Given the description of an element on the screen output the (x, y) to click on. 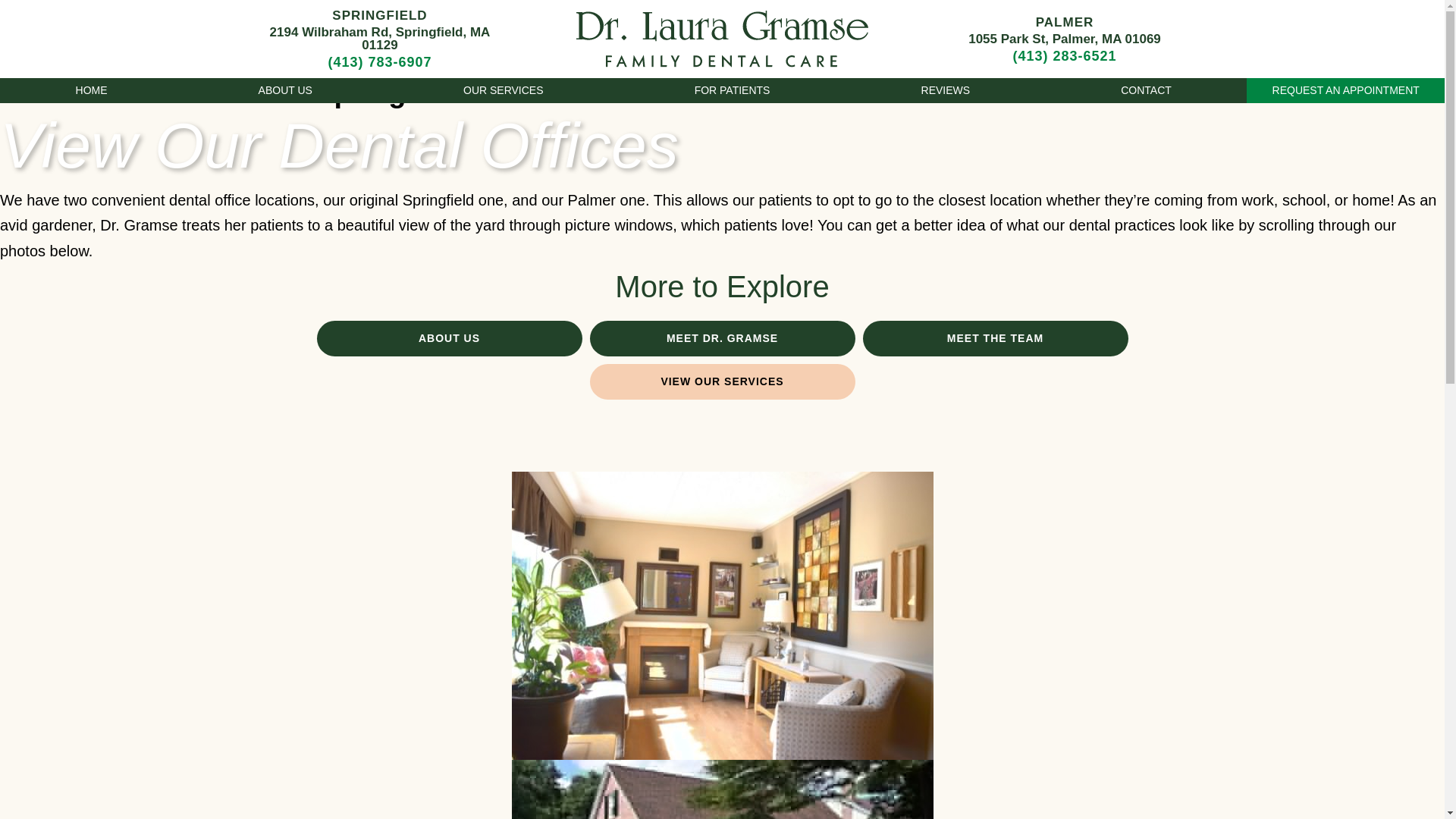
ABOUT US (449, 338)
FOR PATIENTS (732, 90)
REVIEWS (946, 90)
VIEW OUR SERVICES (722, 381)
2194 Wilbraham Rd, Springfield, MA 01129 (379, 38)
About Us (285, 90)
HOME (91, 90)
ABOUT US (285, 90)
MEET THE TEAM (995, 338)
1055 Park St, Palmer, MA 01069 (1064, 38)
